Given the description of an element on the screen output the (x, y) to click on. 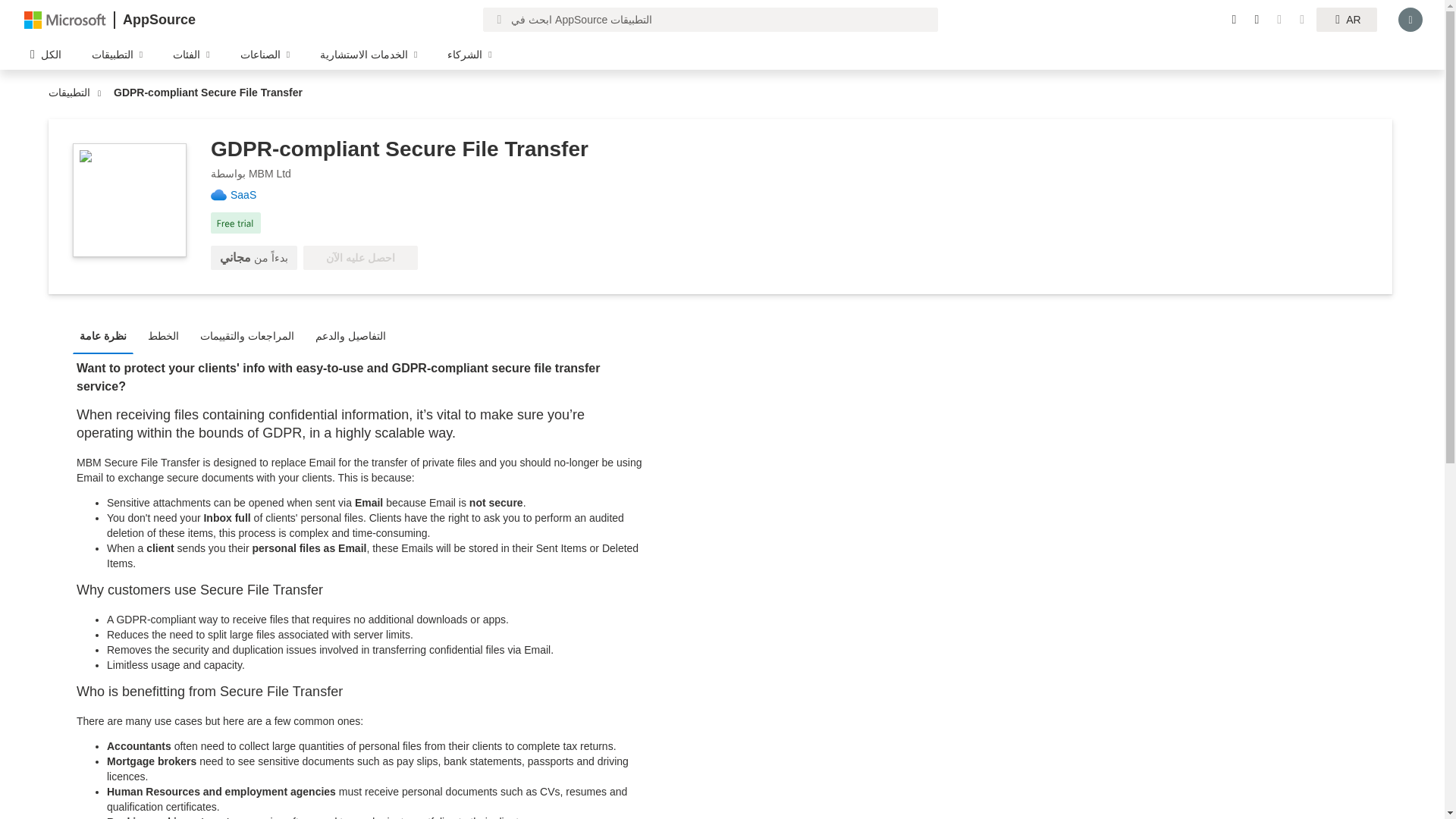
AppSource (158, 19)
SaaS (248, 194)
SaaS (248, 194)
Microsoft (65, 18)
